Given the description of an element on the screen output the (x, y) to click on. 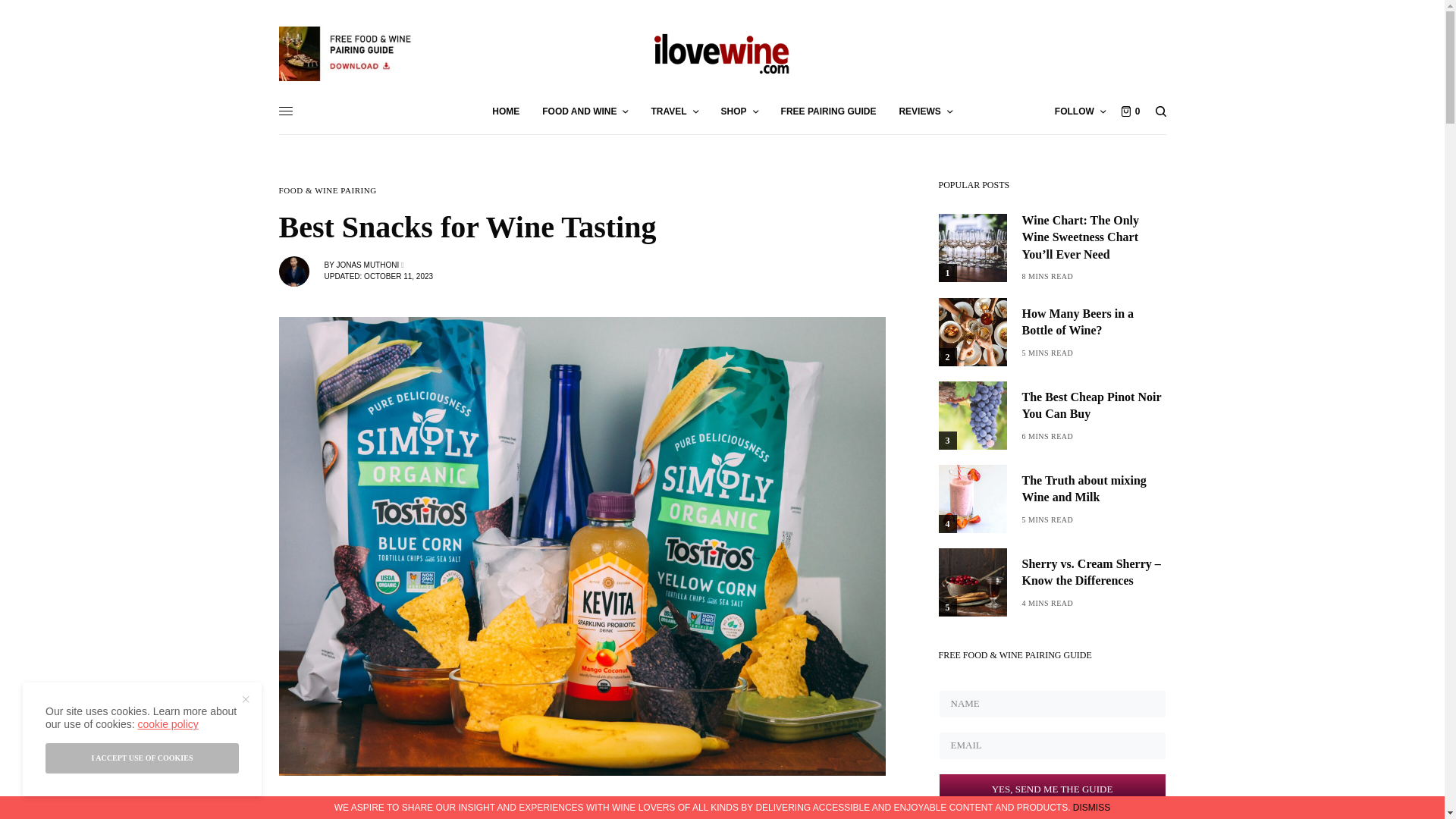
The Best Cheap Pinot Noir You Can Buy (1094, 406)
FREE PAIRING GUIDE (828, 111)
Posts by Jonas Muthoni (367, 265)
JONAS MUTHONI (367, 265)
How Many Beers in a Bottle of Wine? (1094, 322)
FOOD AND WINE (584, 111)
I Love Wine (721, 53)
TRAVEL (673, 111)
REVIEWS (925, 111)
FOLLOW (1079, 111)
The Truth about mixing Wine and Milk (1094, 489)
